Given the description of an element on the screen output the (x, y) to click on. 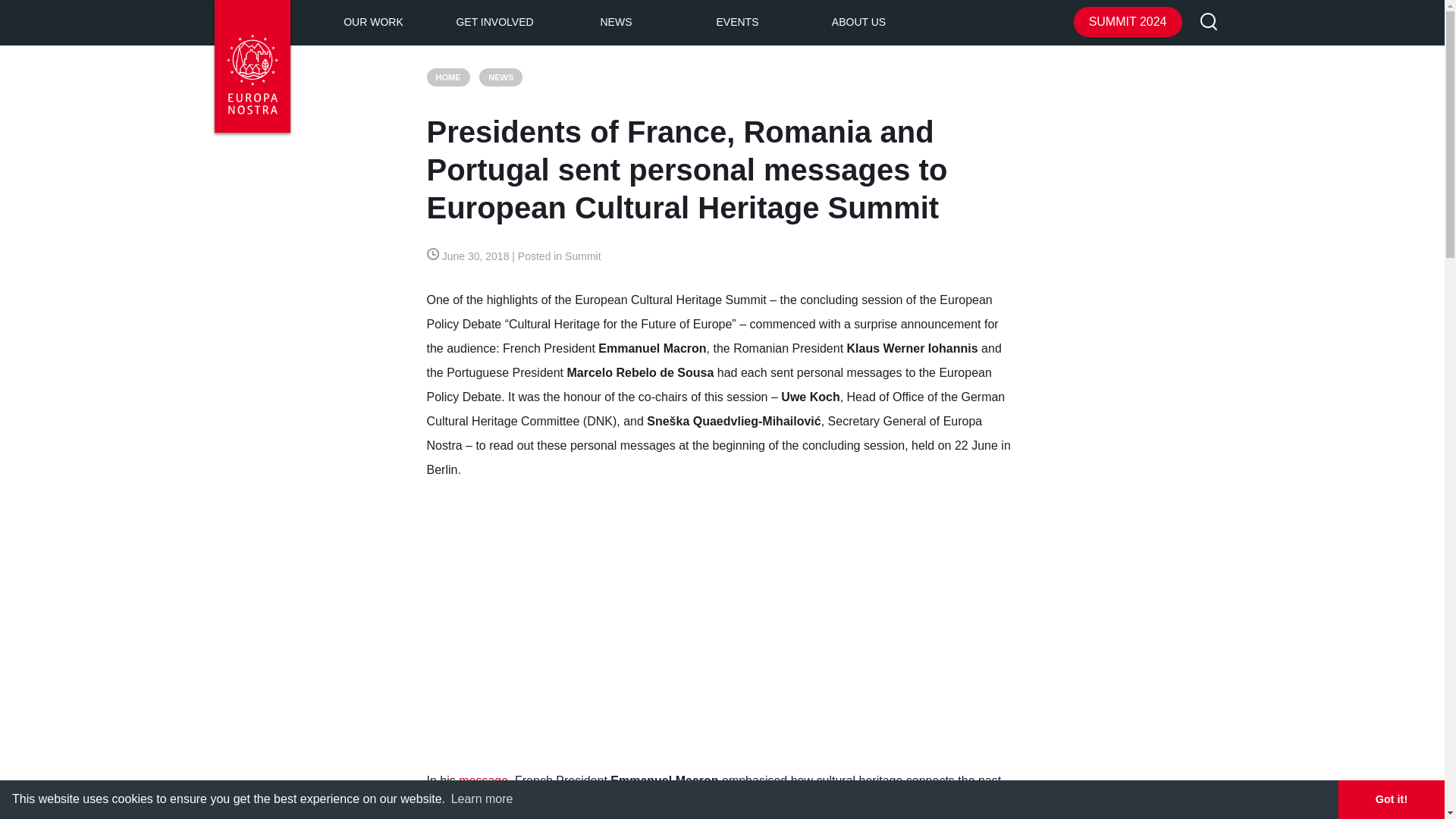
ABOUT US (857, 22)
seach (1209, 22)
Learn more (481, 798)
GET INVOLVED (493, 22)
Posts (500, 76)
OUR WORK (373, 22)
EVENTS (737, 22)
Home (447, 76)
NEWS (615, 22)
